Given the description of an element on the screen output the (x, y) to click on. 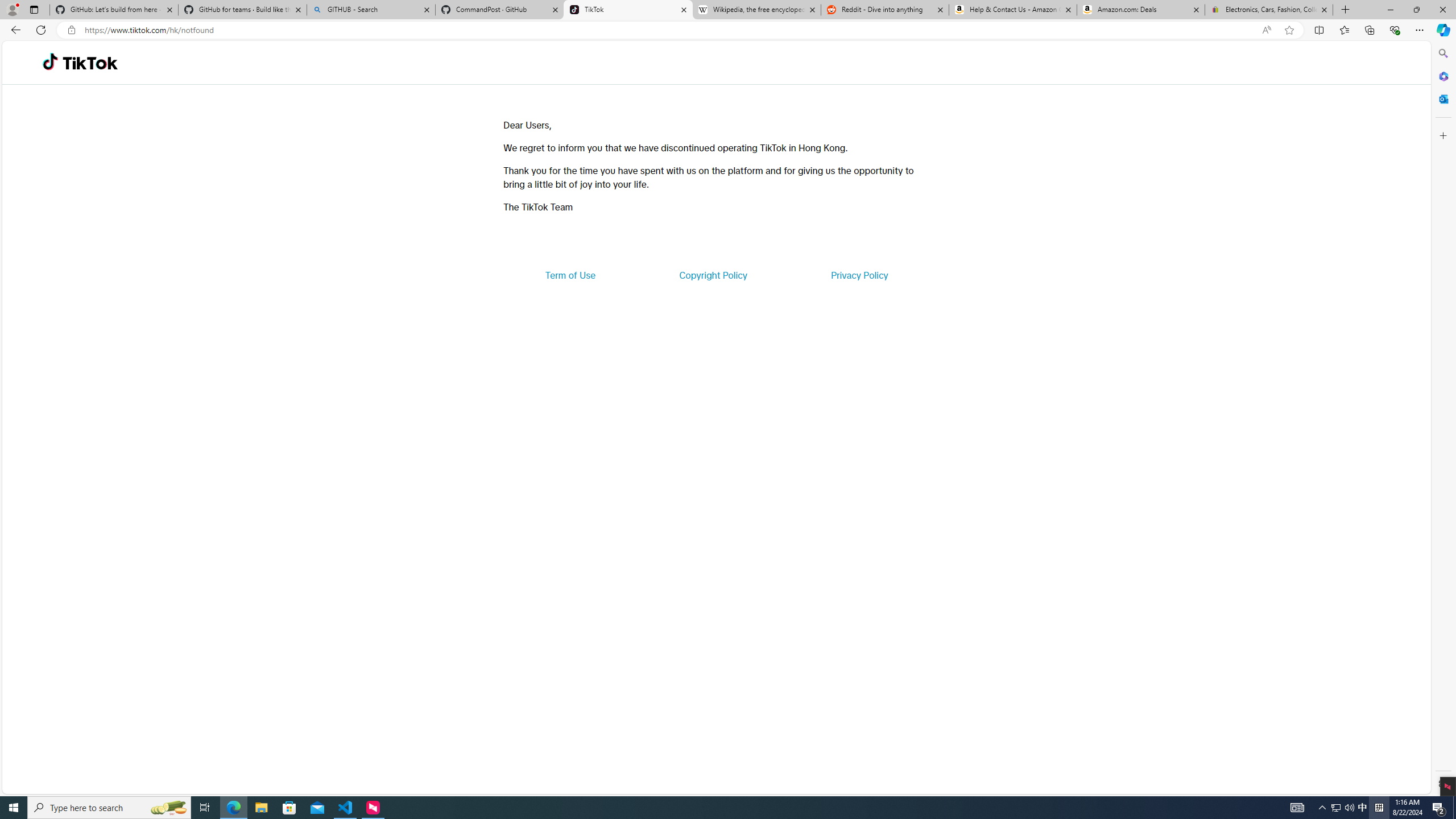
Privacy Policy (858, 274)
